Given the description of an element on the screen output the (x, y) to click on. 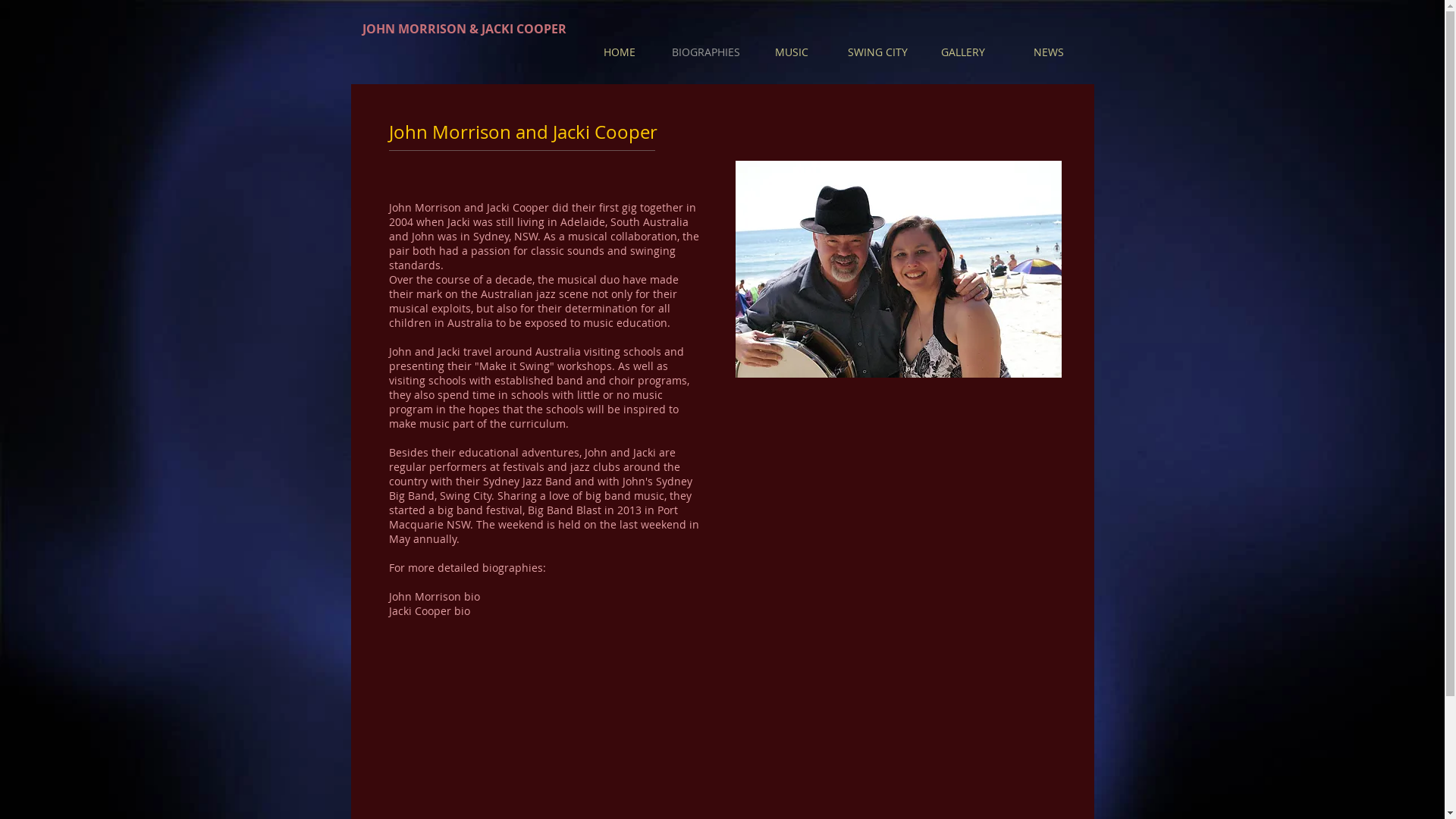
SWING CITY Element type: text (876, 51)
HOME Element type: text (619, 51)
GALLERY Element type: text (963, 51)
BIOGRAPHIES Element type: text (705, 51)
MUSIC Element type: text (791, 51)
JOHN MORRISON & JACKI COOPER Element type: text (464, 28)
noosa 07 072.JPG Element type: hover (898, 268)
NEWS Element type: text (1048, 51)
